Given the description of an element on the screen output the (x, y) to click on. 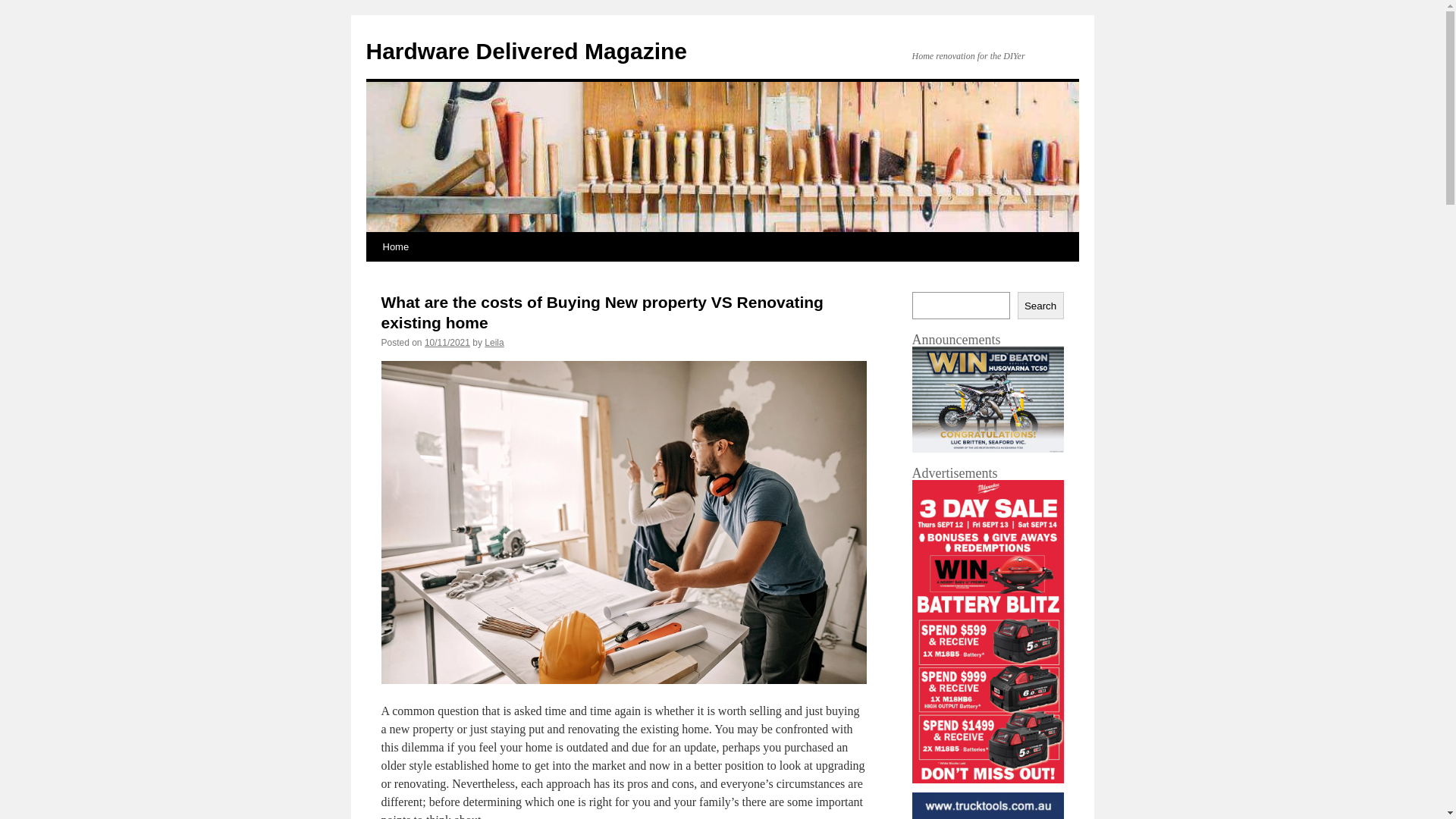
Leila Element type: text (493, 342)
Home Element type: text (395, 246)
10/11/2021 Element type: text (447, 342)
Hardware Delivered Magazine Element type: text (526, 50)
Skip to content Element type: text (372, 275)
Search Element type: text (1040, 305)
